Given the description of an element on the screen output the (x, y) to click on. 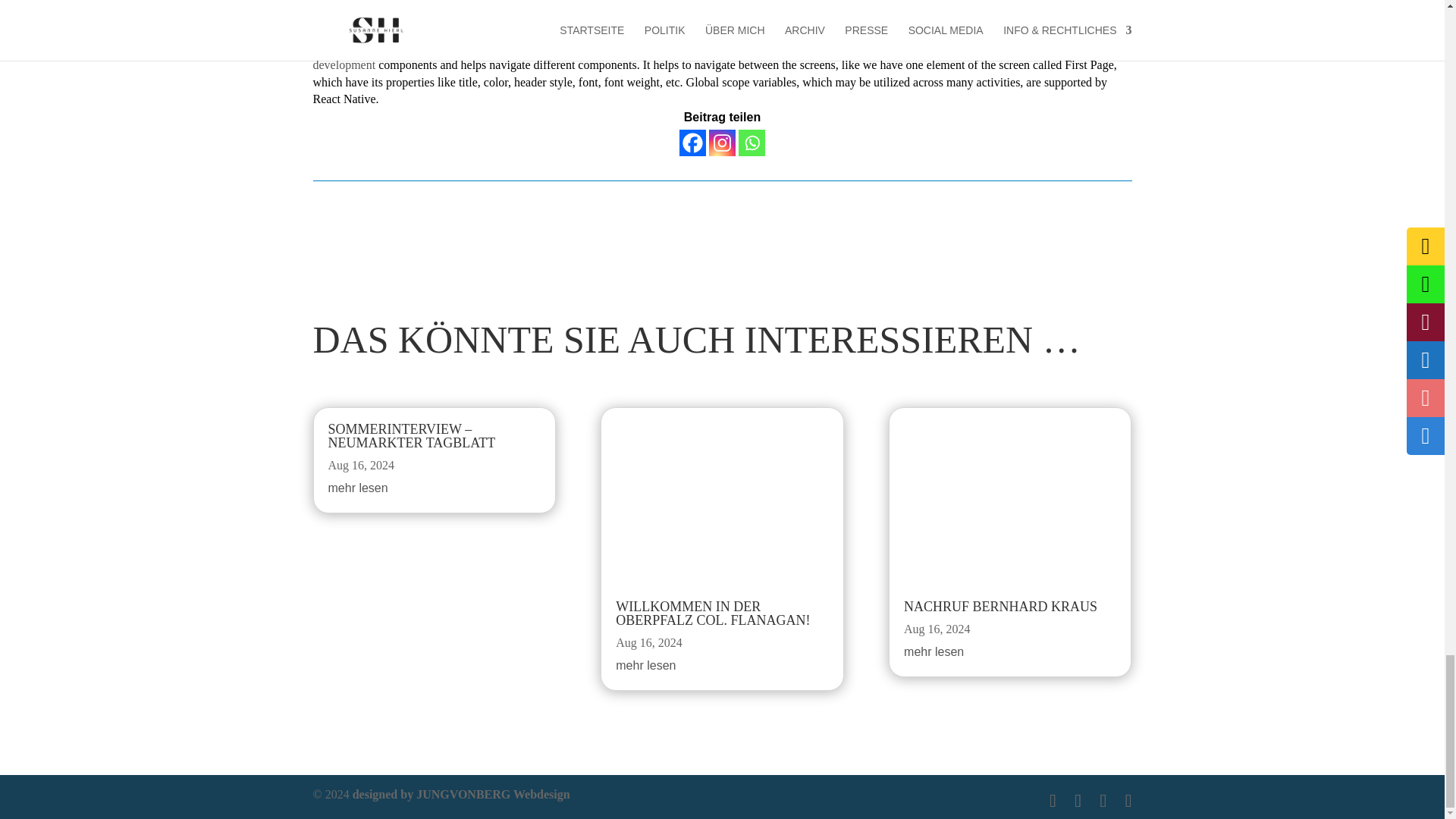
Facebook (692, 142)
Whatsapp (751, 142)
mehr lesen (645, 665)
designed by JUNGVONBERG Webdesign (461, 793)
mehr lesen (933, 651)
react native development (698, 56)
WILLKOMMEN IN DER OBERPFALZ COL. FLANAGAN! (712, 613)
Instagram (722, 142)
NACHRUF BERNHARD KRAUS (1000, 606)
mehr lesen (357, 487)
